Given the description of an element on the screen output the (x, y) to click on. 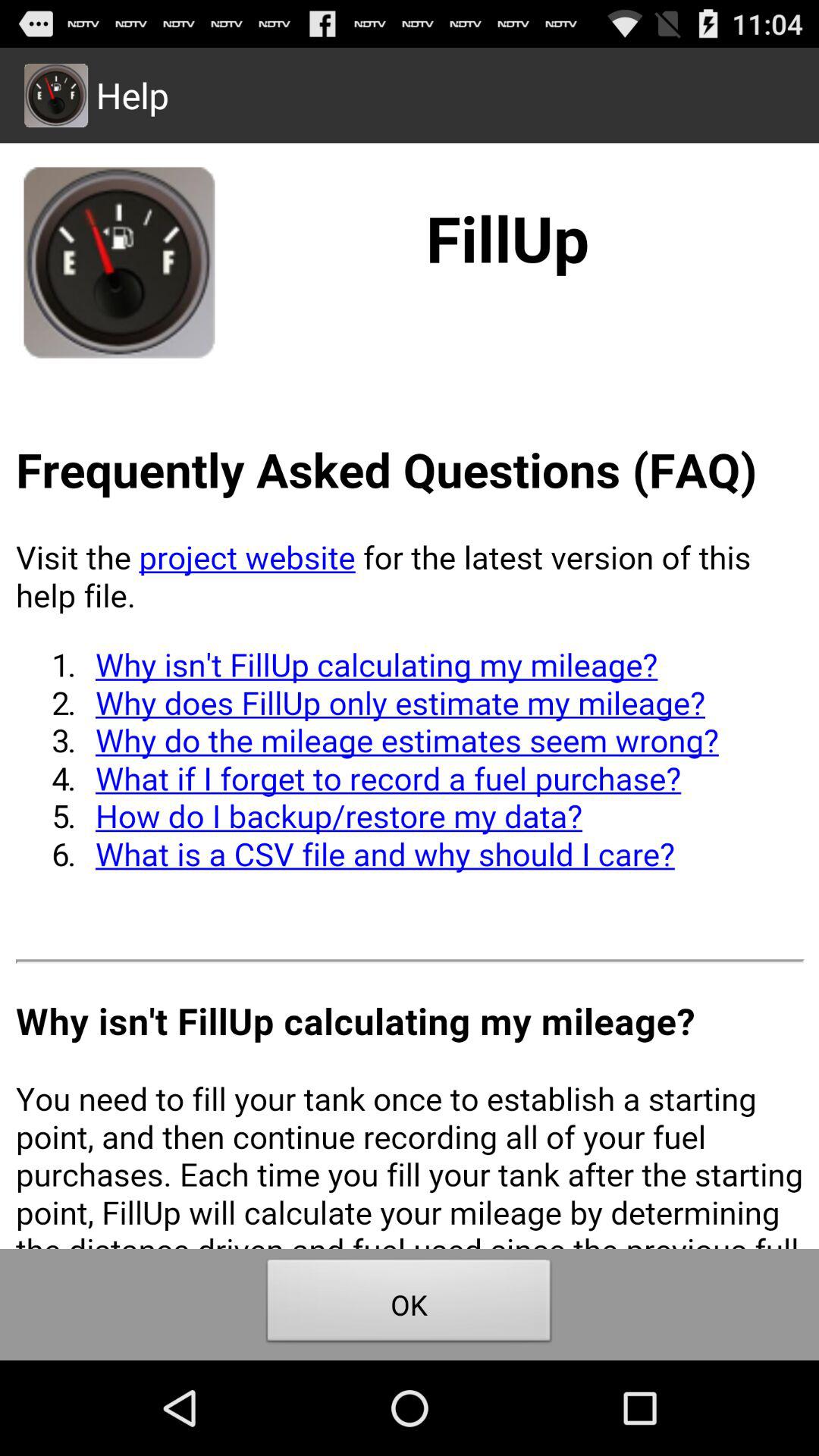
kilometer (409, 695)
